Given the description of an element on the screen output the (x, y) to click on. 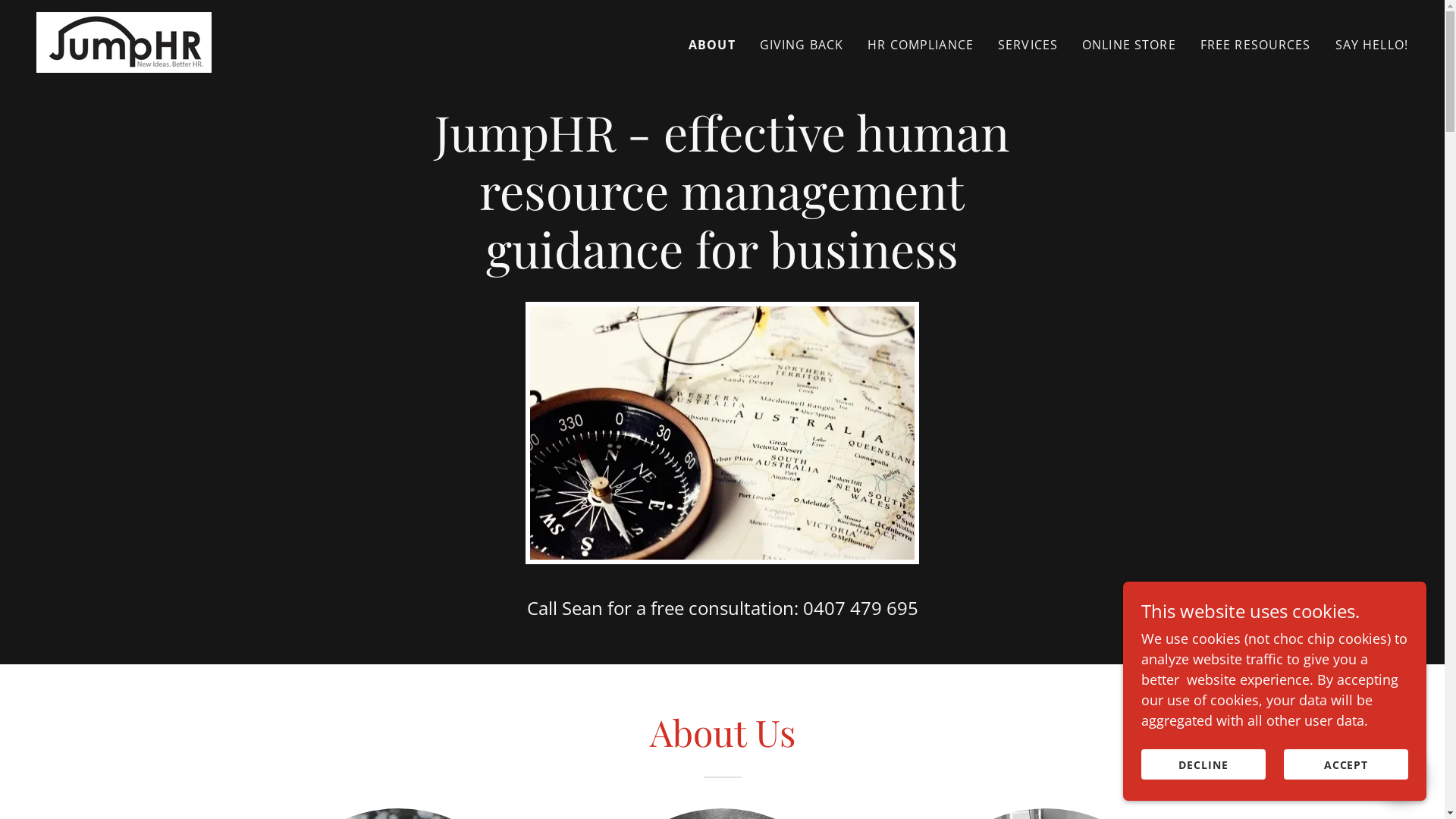
SERVICES Element type: text (1027, 43)
0407 479 695 Element type: text (859, 607)
JumpHR Element type: hover (123, 40)
HR COMPLIANCE Element type: text (920, 43)
FREE RESOURCES Element type: text (1255, 43)
GIVING BACK Element type: text (801, 43)
ABOUT Element type: text (711, 43)
DECLINE Element type: text (1203, 764)
ONLINE STORE Element type: text (1128, 43)
SAY HELLO! Element type: text (1371, 43)
ACCEPT Element type: text (1345, 764)
